Given the description of an element on the screen output the (x, y) to click on. 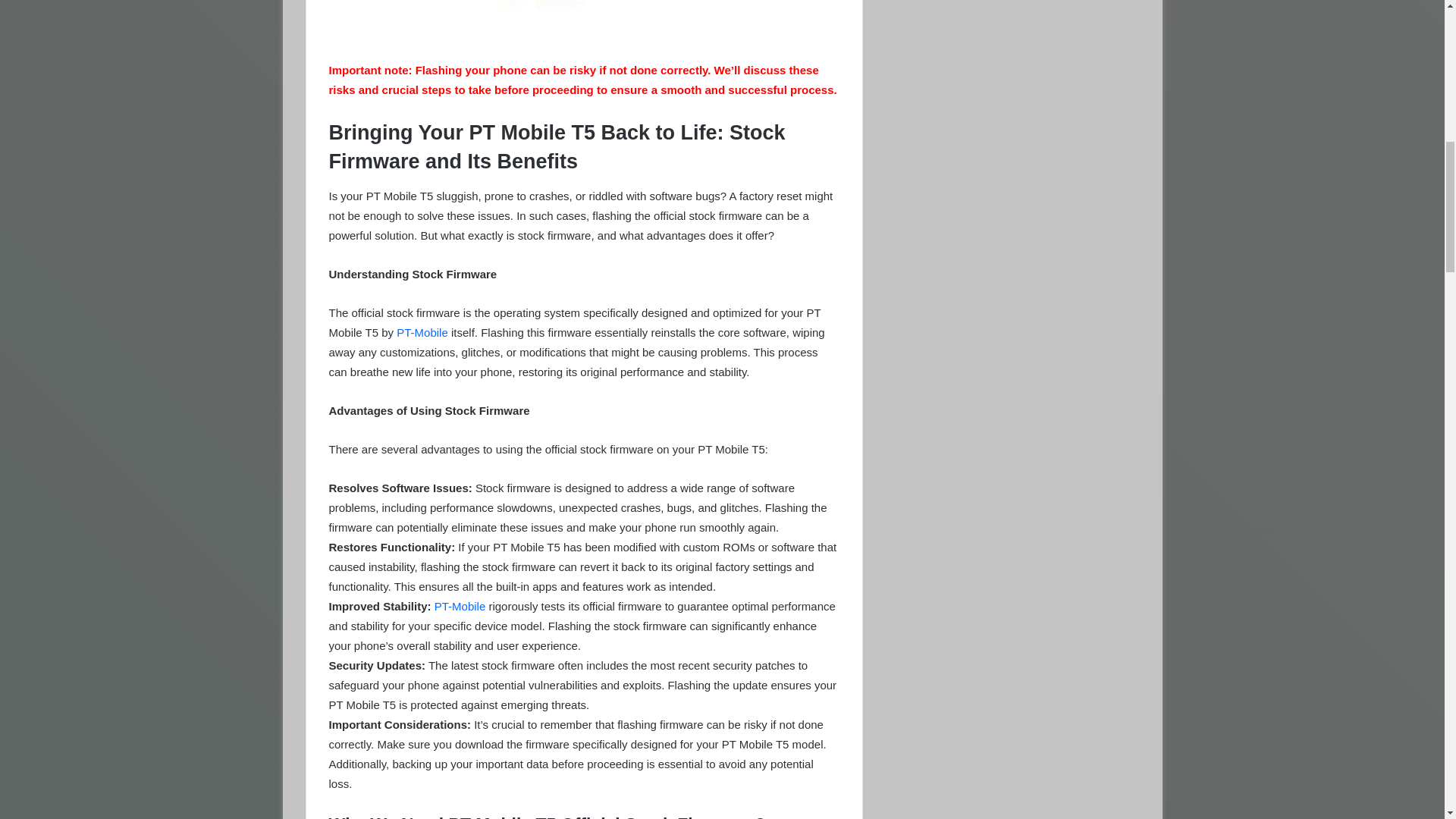
PT-Mobile (422, 332)
PT-Mobile (459, 605)
